Given the description of an element on the screen output the (x, y) to click on. 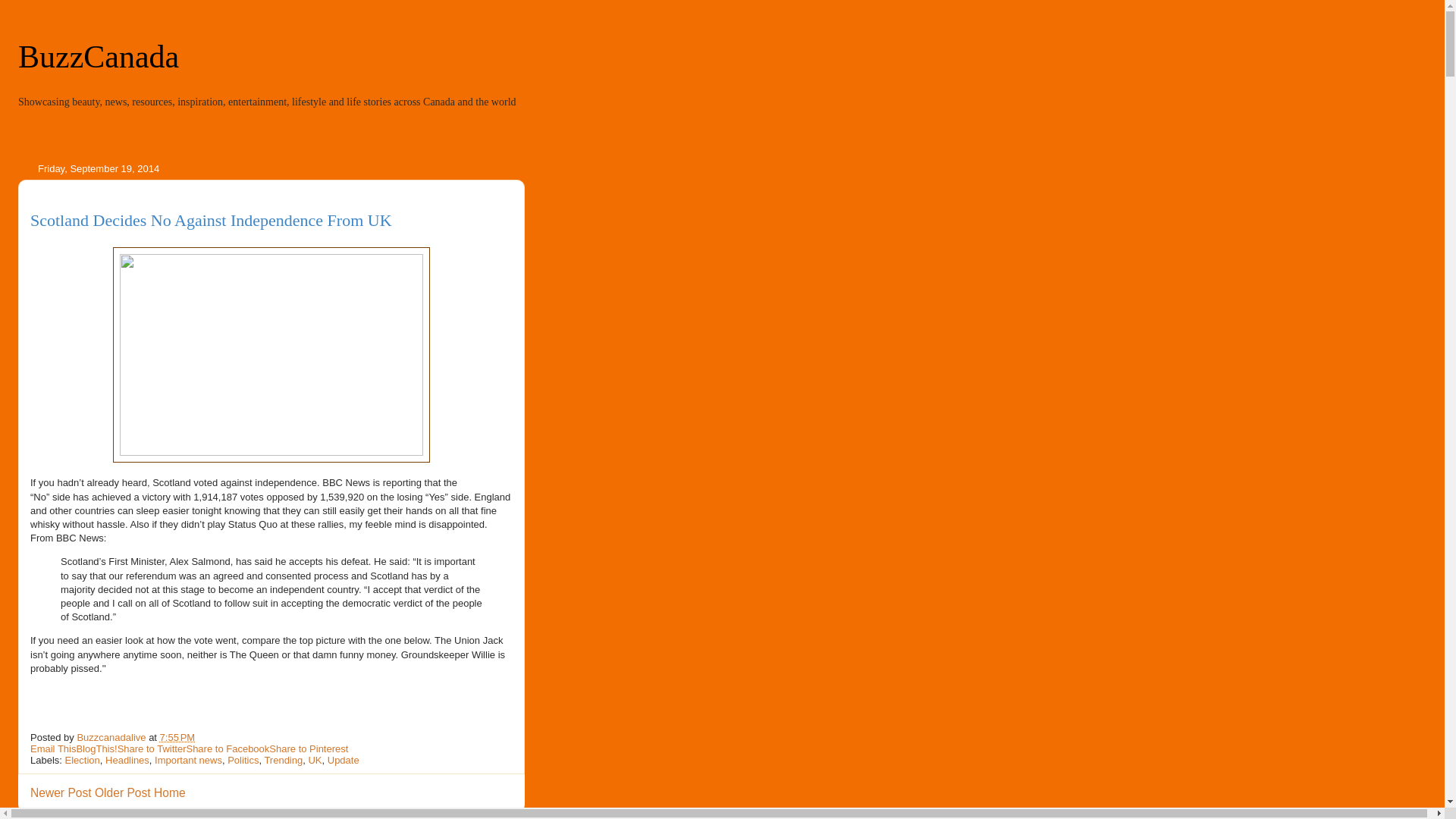
permanent link (177, 737)
Email This (52, 748)
Share to Pinterest (308, 748)
Share to Pinterest (308, 748)
Update (343, 759)
BlogThis! (95, 748)
Buzzcanadalive (112, 737)
Email This (52, 748)
BuzzCanada (98, 56)
Share to Facebook (227, 748)
author profile (112, 737)
Older Post (122, 792)
Newer Post (60, 792)
Share to Twitter (151, 748)
